Given the description of an element on the screen output the (x, y) to click on. 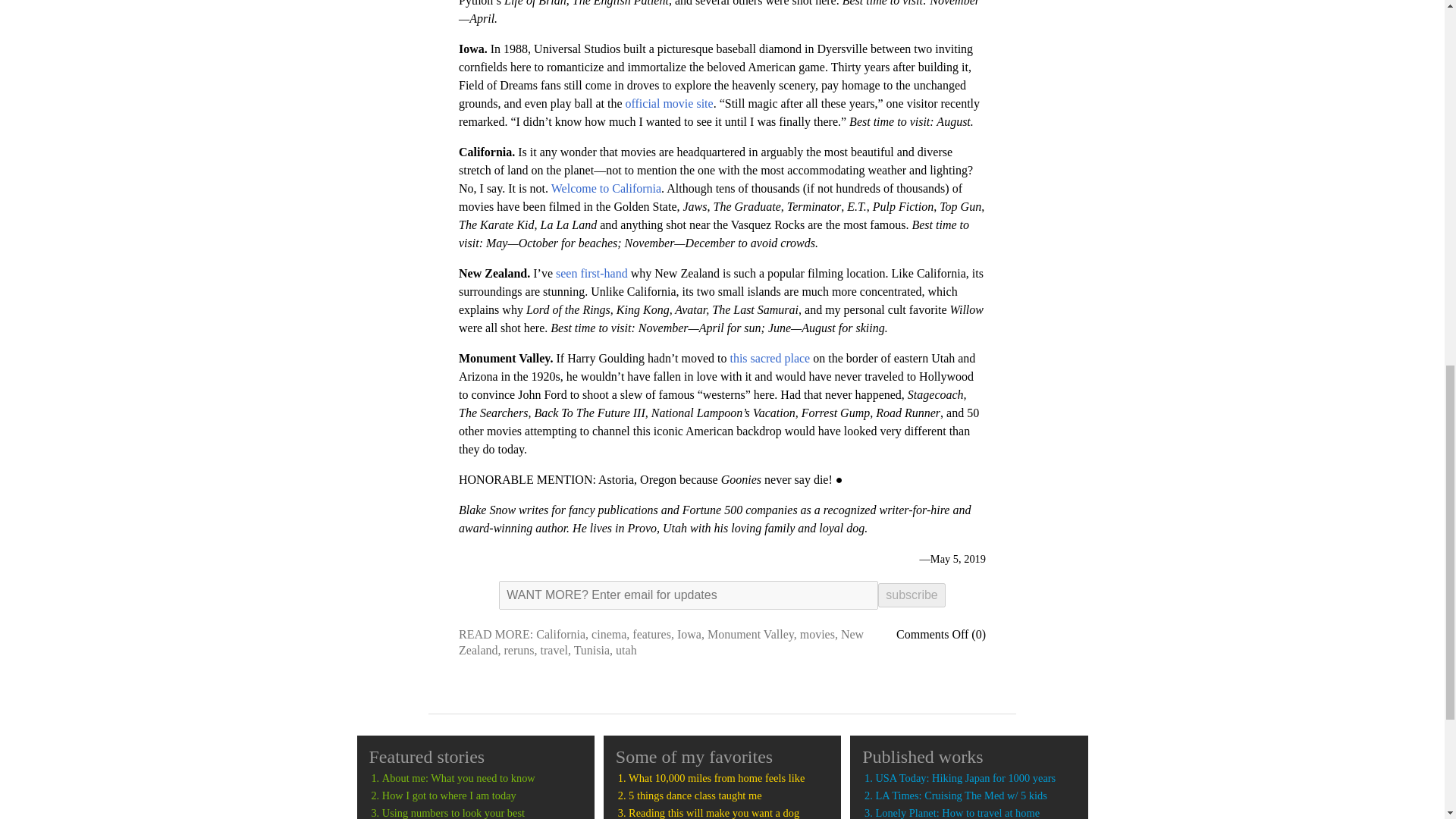
cinema (608, 634)
subscribe (910, 595)
official movie site (668, 103)
Iowa (689, 634)
this sacred place (769, 358)
Reading this will make you want a dog (728, 812)
travel (553, 649)
Using numbers to look your best (481, 812)
What 10,000 miles from home feels like (728, 778)
New Zealand (660, 642)
seen first-hand (591, 273)
movies (816, 634)
Monument Valley (750, 634)
About me: What you need to know (481, 778)
features (651, 634)
